Given the description of an element on the screen output the (x, y) to click on. 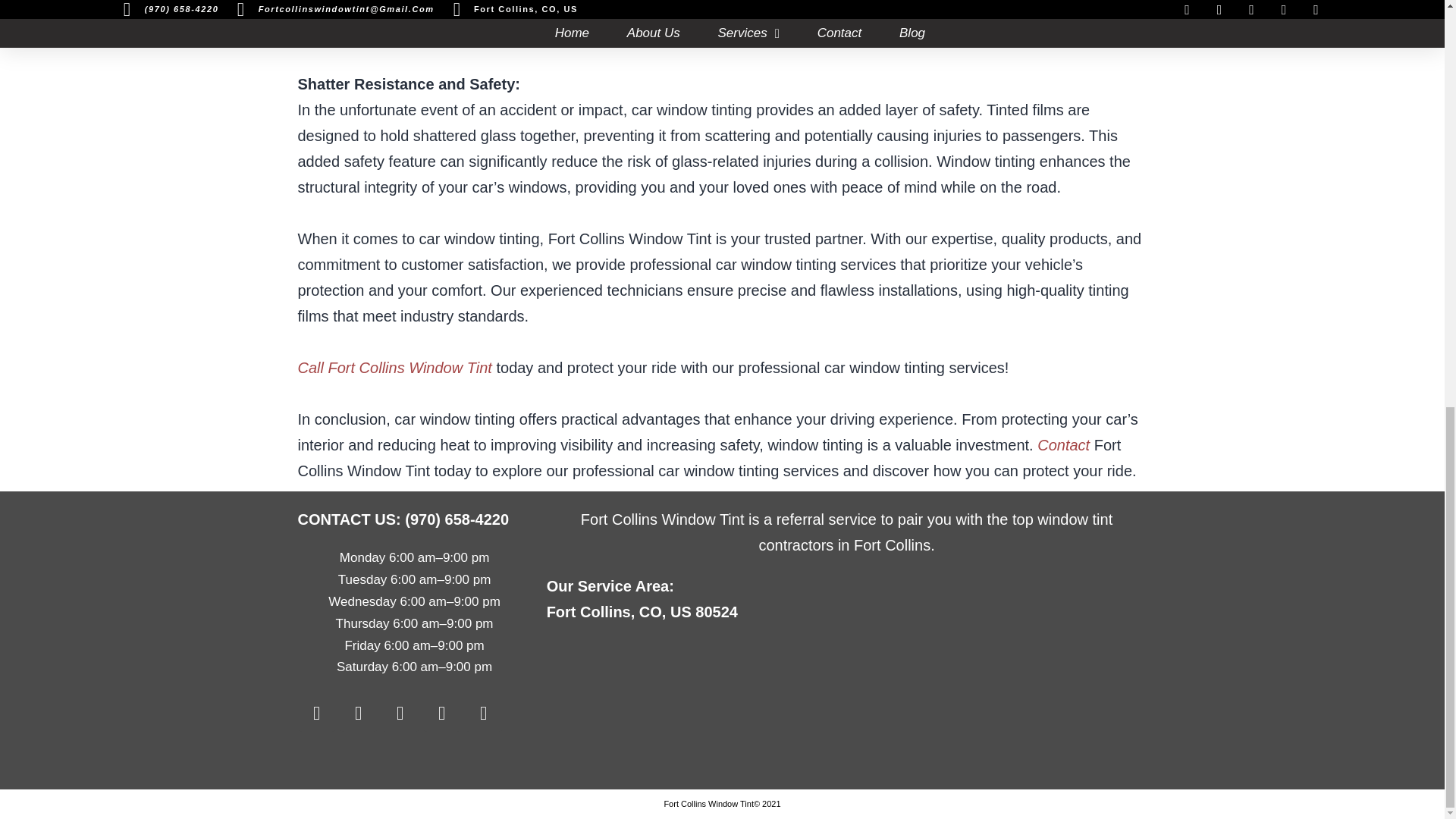
Fort Collins, CO, US (847, 706)
